Given the description of an element on the screen output the (x, y) to click on. 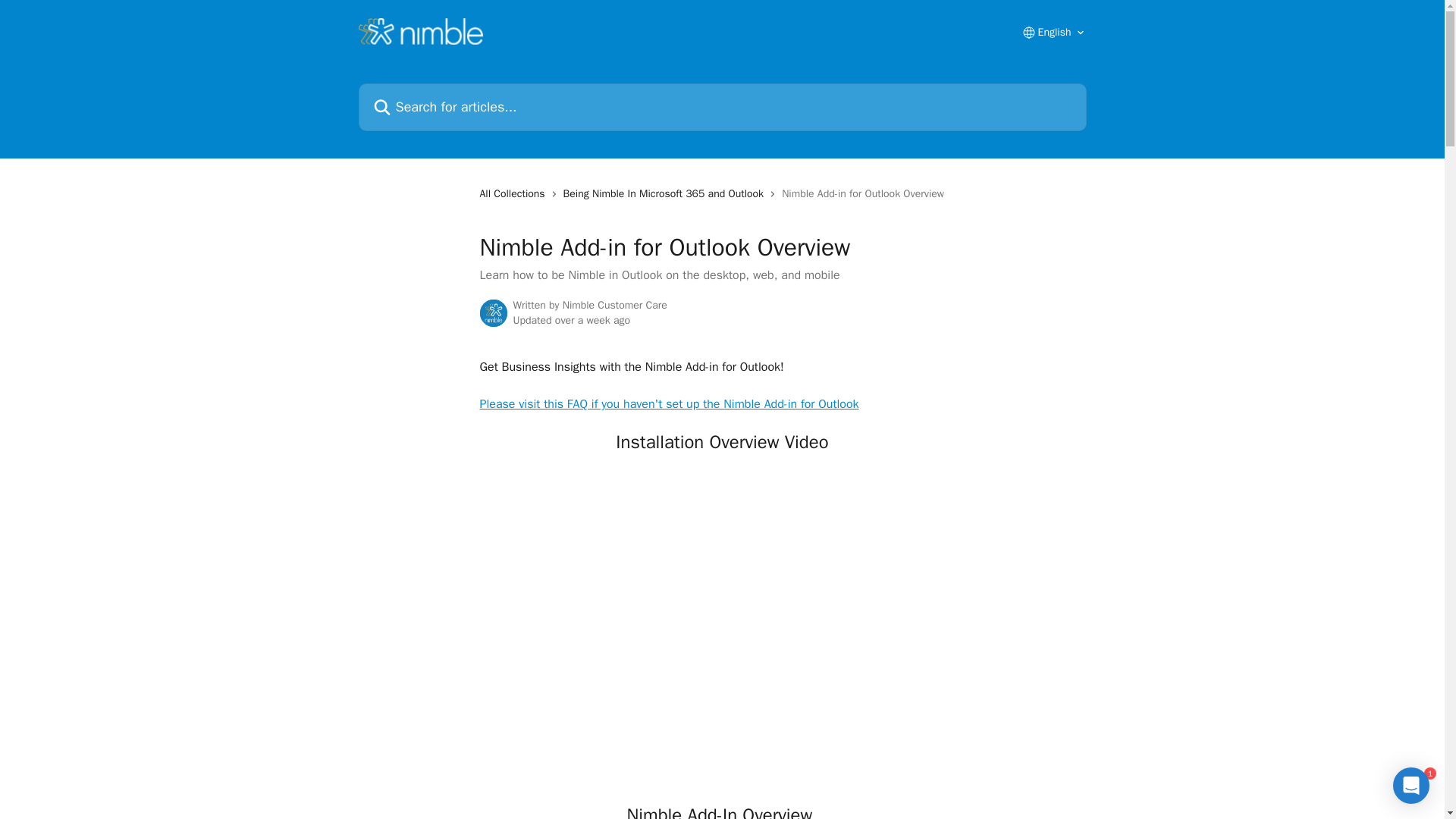
Intercom live chat (1411, 785)
Being Nimble In Microsoft 365 and Outlook (666, 193)
All Collections (514, 193)
